Given the description of an element on the screen output the (x, y) to click on. 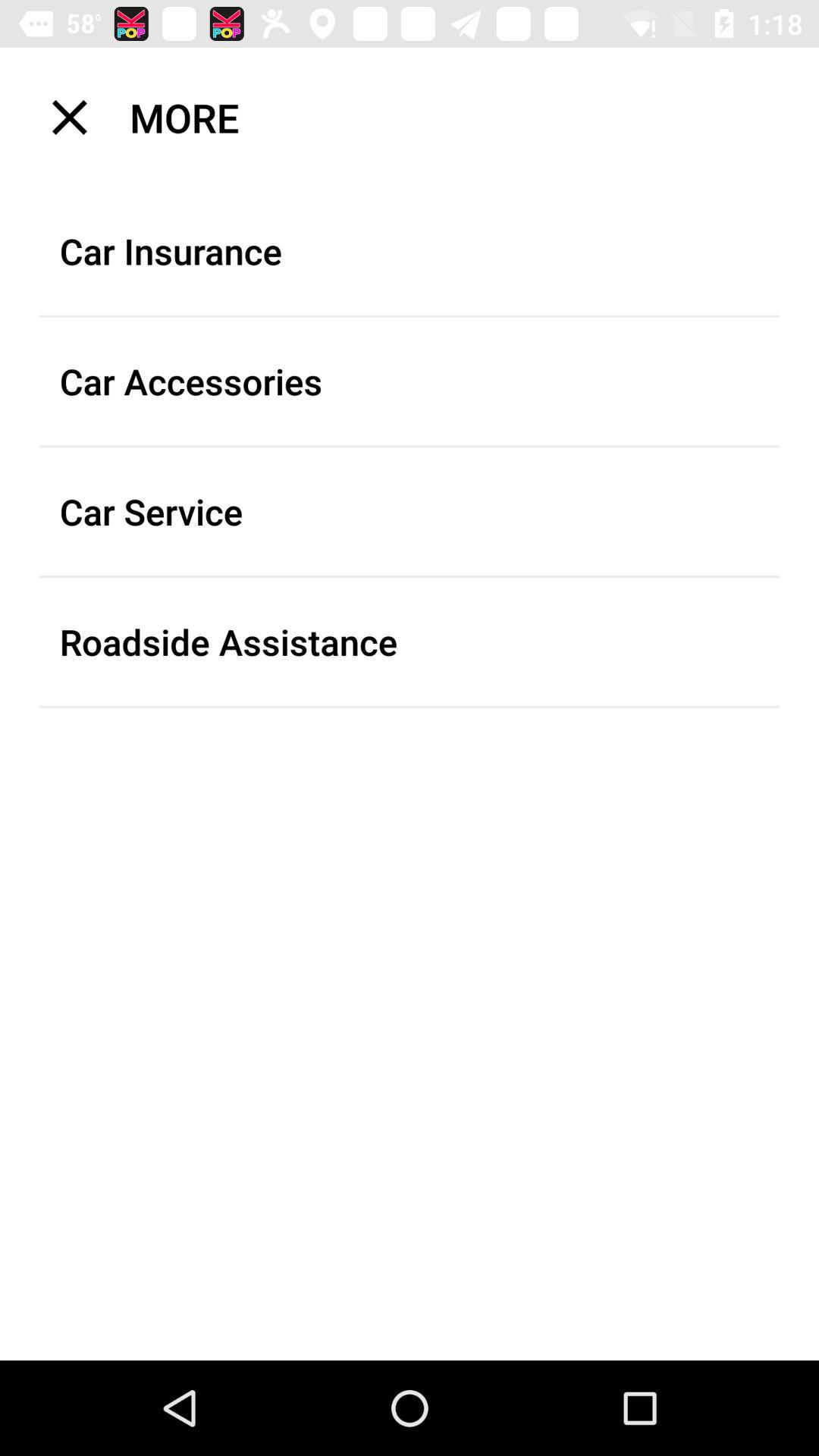
flip until car accessories icon (409, 381)
